Given the description of an element on the screen output the (x, y) to click on. 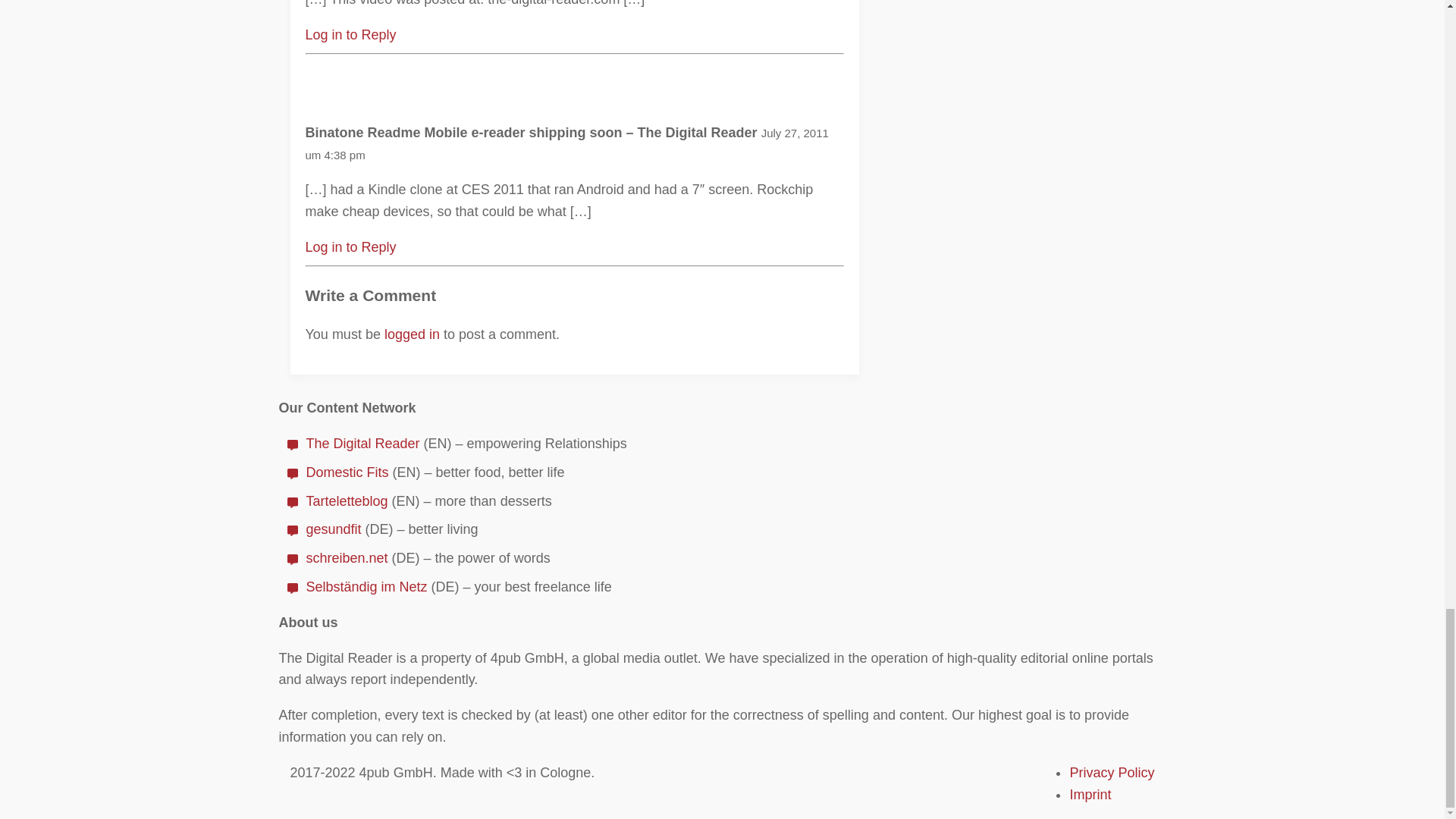
Log in to Reply (350, 246)
Log in to Reply (350, 34)
logged in (411, 334)
